Given the description of an element on the screen output the (x, y) to click on. 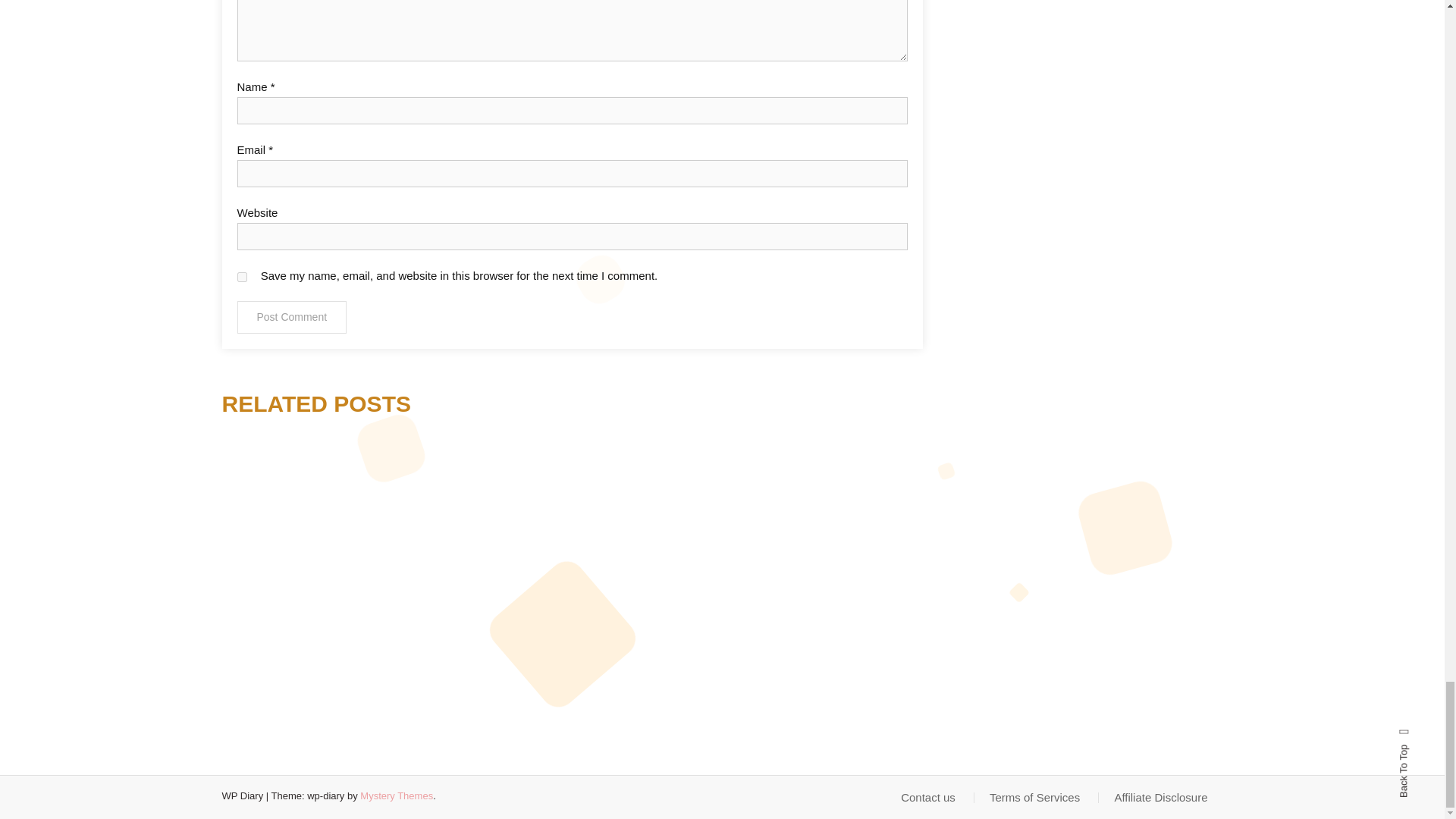
Post Comment (290, 317)
yes (240, 276)
